Given the description of an element on the screen output the (x, y) to click on. 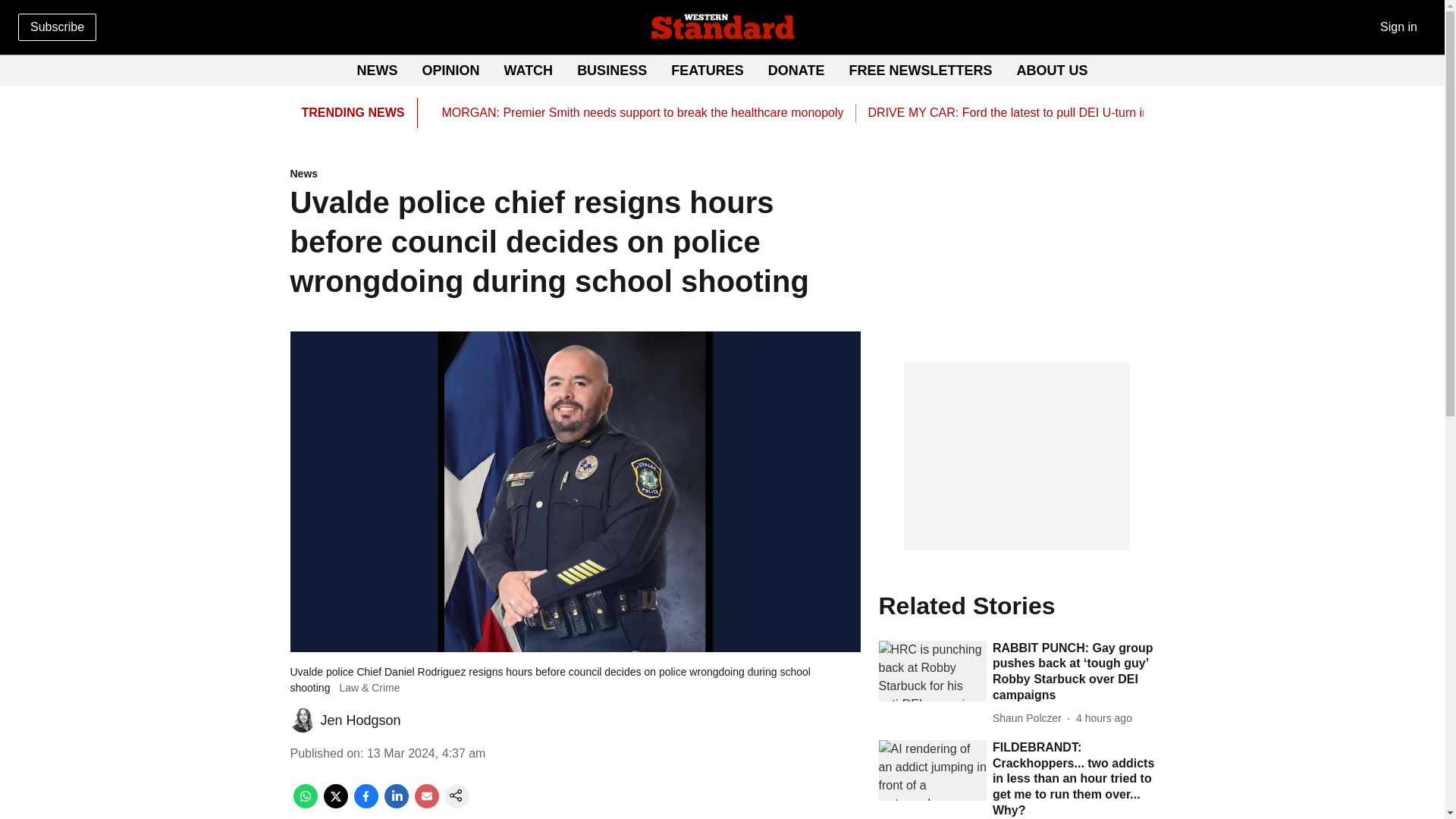
BUSINESS (611, 70)
DONATE (796, 70)
2024-08-29 21:18 (1103, 718)
FEATURES (707, 70)
FREE NEWSLETTERS (920, 70)
WATCH (528, 70)
